Given the description of an element on the screen output the (x, y) to click on. 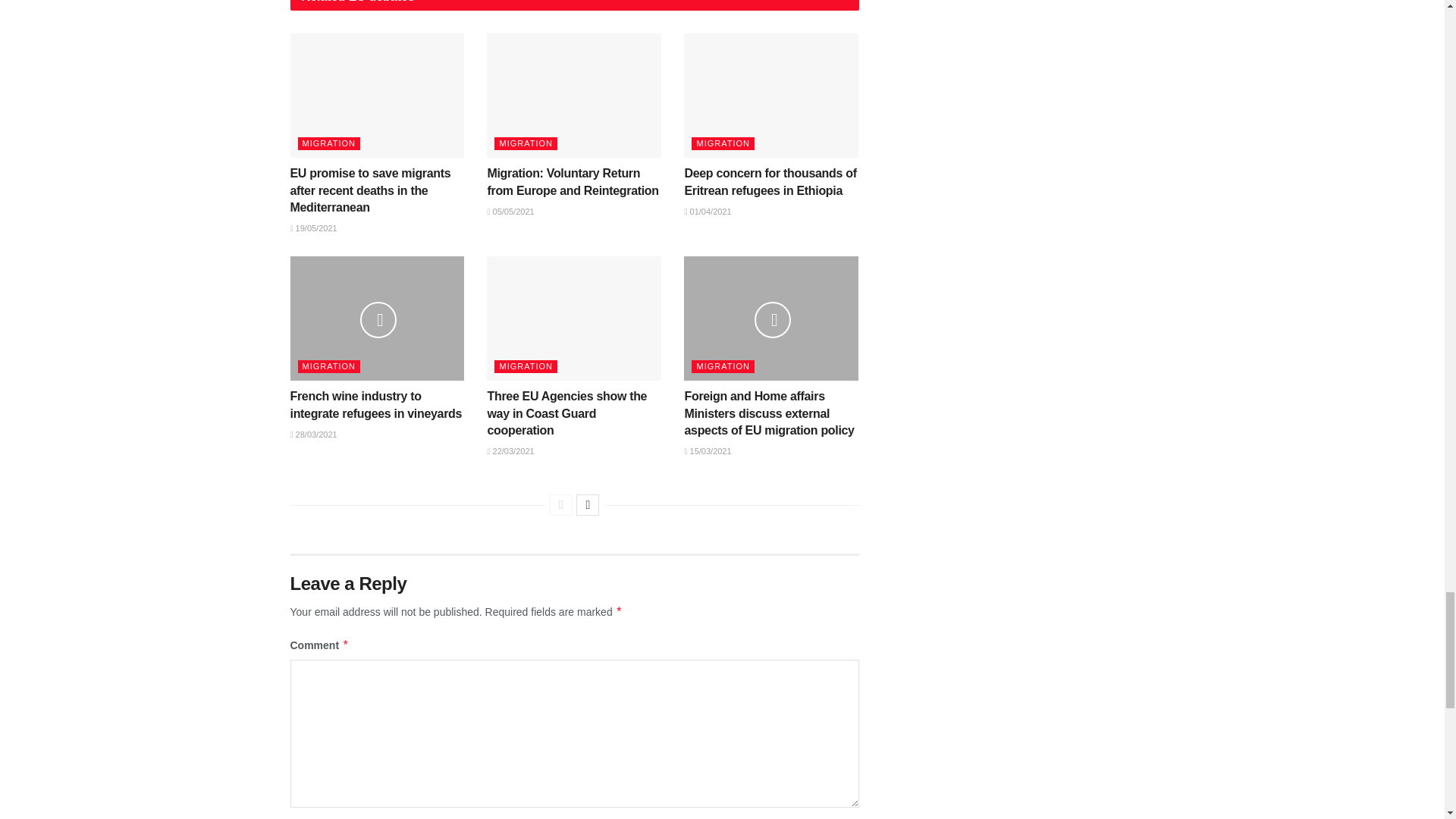
Next (587, 504)
Previous (561, 504)
